Given the description of an element on the screen output the (x, y) to click on. 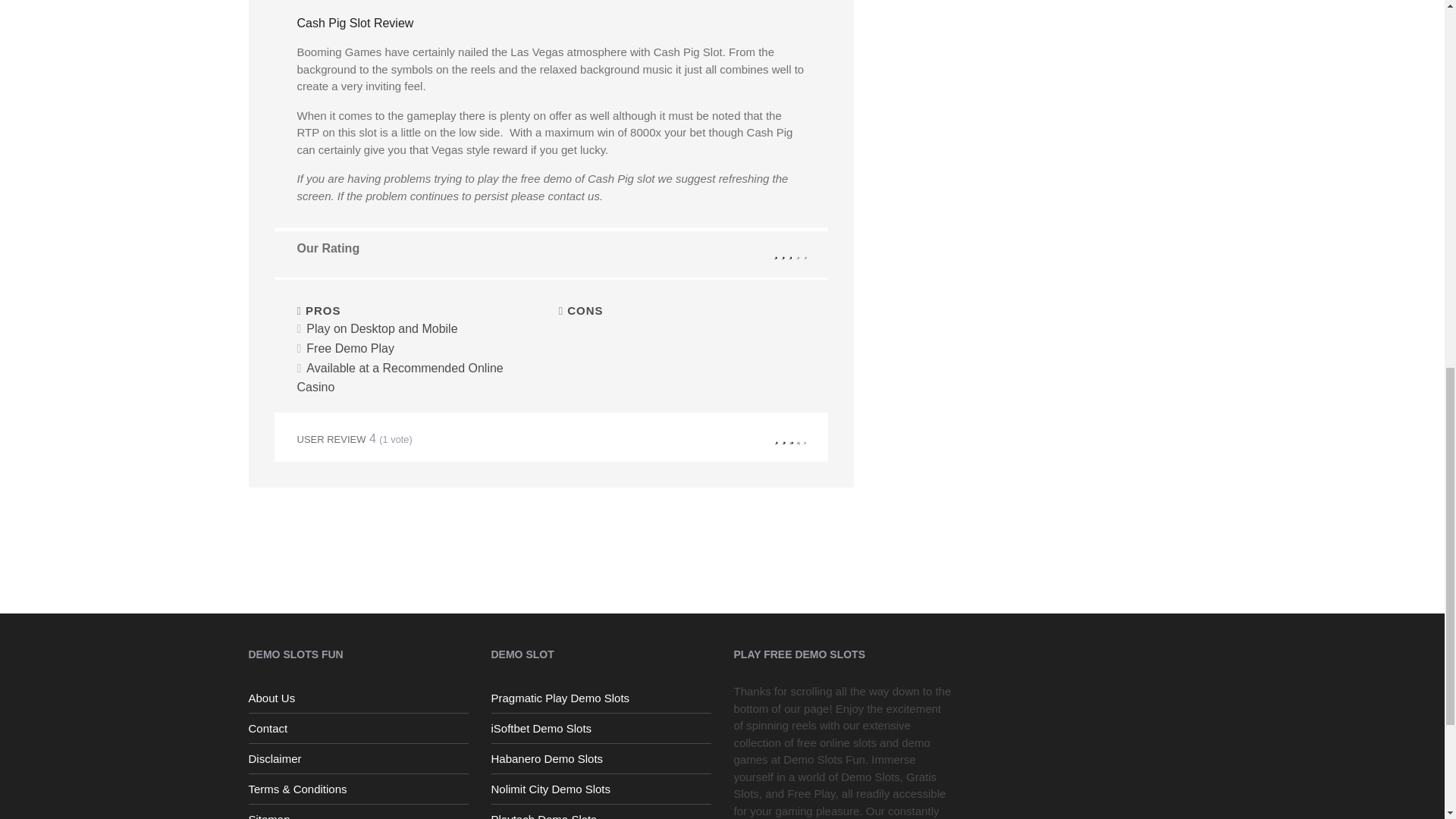
Playtech Demo Slots (601, 813)
Habanero Demo Slots (601, 758)
iSoftbet Demo Slots (601, 728)
Nolimit City Demo Slots (601, 789)
Pragmatic Play Demo Slots (601, 698)
Sitemap (358, 813)
iSoftbet Demo Slots (601, 728)
About Us (358, 698)
Pragmatic Play Demo Slots (601, 698)
Playtech Demo Slots (601, 813)
Habanero Demo Slots (601, 758)
Disclaimer (358, 758)
Nolimit City Demo Slots (601, 789)
Contact (358, 728)
